Given the description of an element on the screen output the (x, y) to click on. 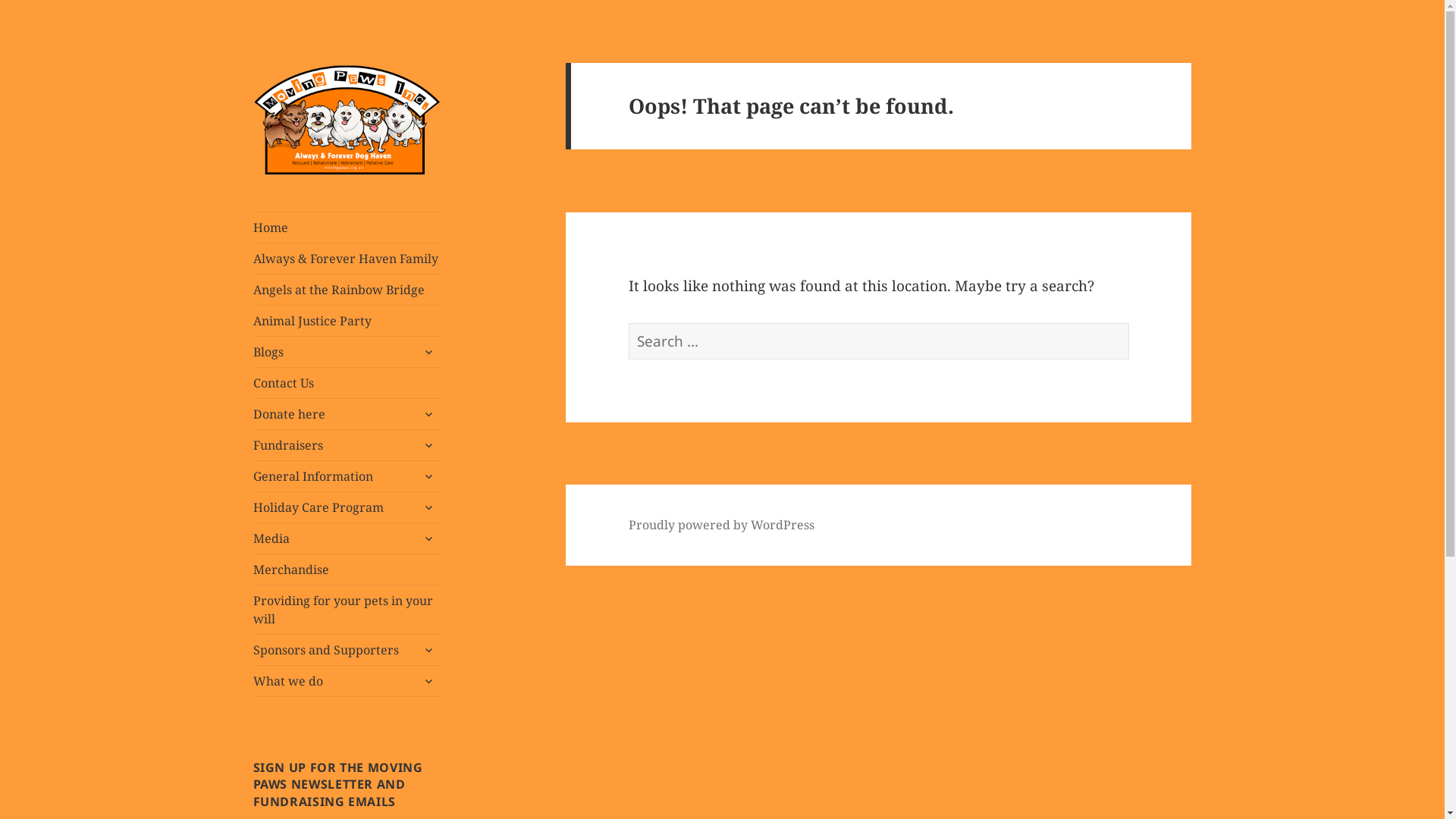
expand child menu Element type: text (428, 476)
expand child menu Element type: text (428, 413)
Blogs Element type: text (347, 351)
expand child menu Element type: text (428, 351)
Merchandise Element type: text (347, 569)
expand child menu Element type: text (428, 445)
General Information Element type: text (347, 476)
Animal Justice Party Element type: text (347, 320)
What we do Element type: text (347, 680)
Proudly powered by WordPress Element type: text (721, 524)
Media Element type: text (347, 538)
Angels at the Rainbow Bridge Element type: text (347, 289)
Sponsors and Supporters Element type: text (347, 649)
expand child menu Element type: text (428, 680)
Providing for your pets in your will Element type: text (347, 609)
expand child menu Element type: text (428, 507)
Holiday Care Program Element type: text (347, 507)
expand child menu Element type: text (428, 649)
Donate here Element type: text (347, 413)
Search Element type: text (1129, 323)
Home Element type: text (347, 227)
expand child menu Element type: text (428, 538)
Contact Us Element type: text (347, 382)
Always & Forever Haven Family Element type: text (347, 258)
Fundraisers Element type: text (347, 444)
